Given the description of an element on the screen output the (x, y) to click on. 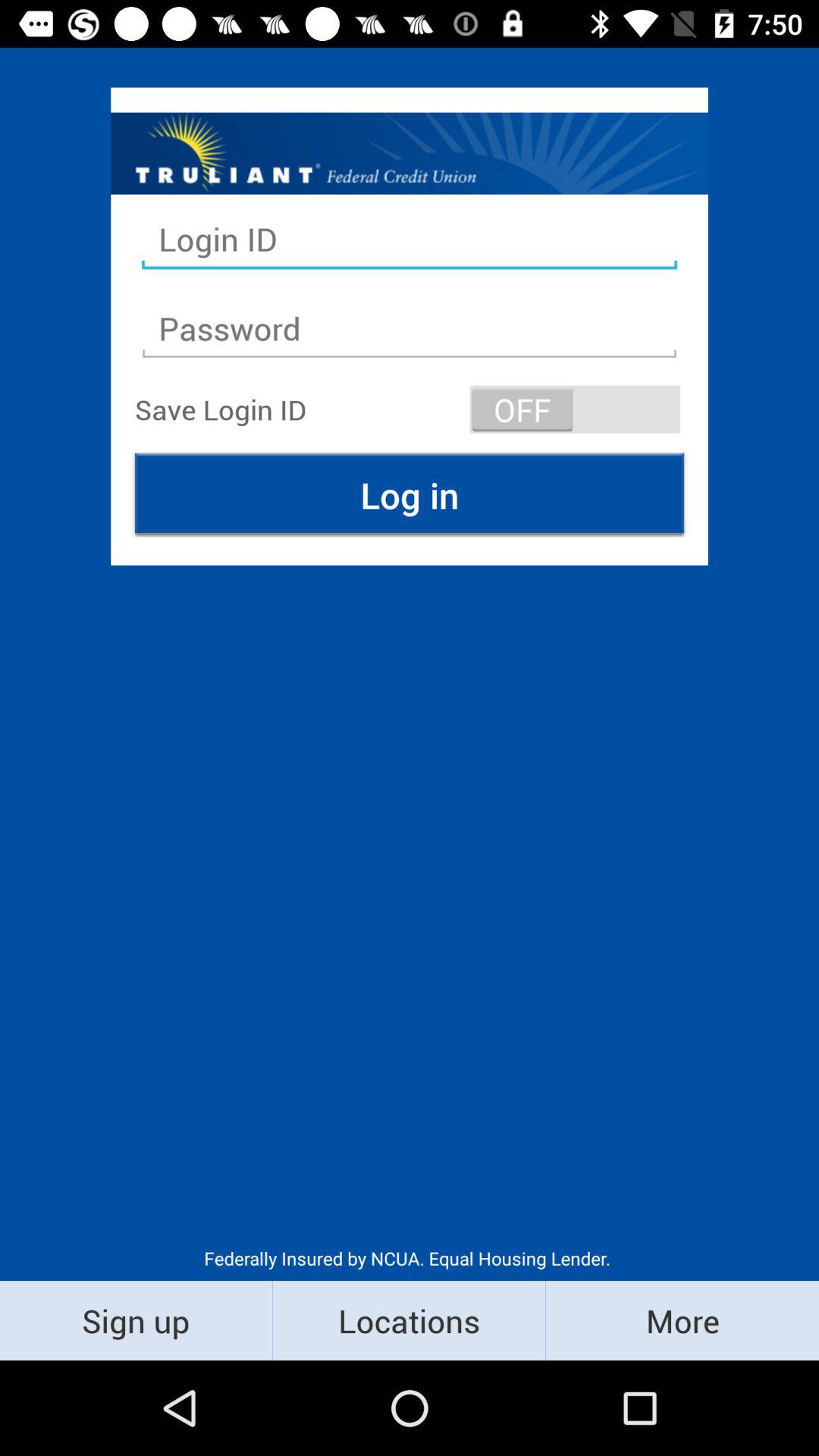
choose the icon to the right of the save login id icon (574, 409)
